Given the description of an element on the screen output the (x, y) to click on. 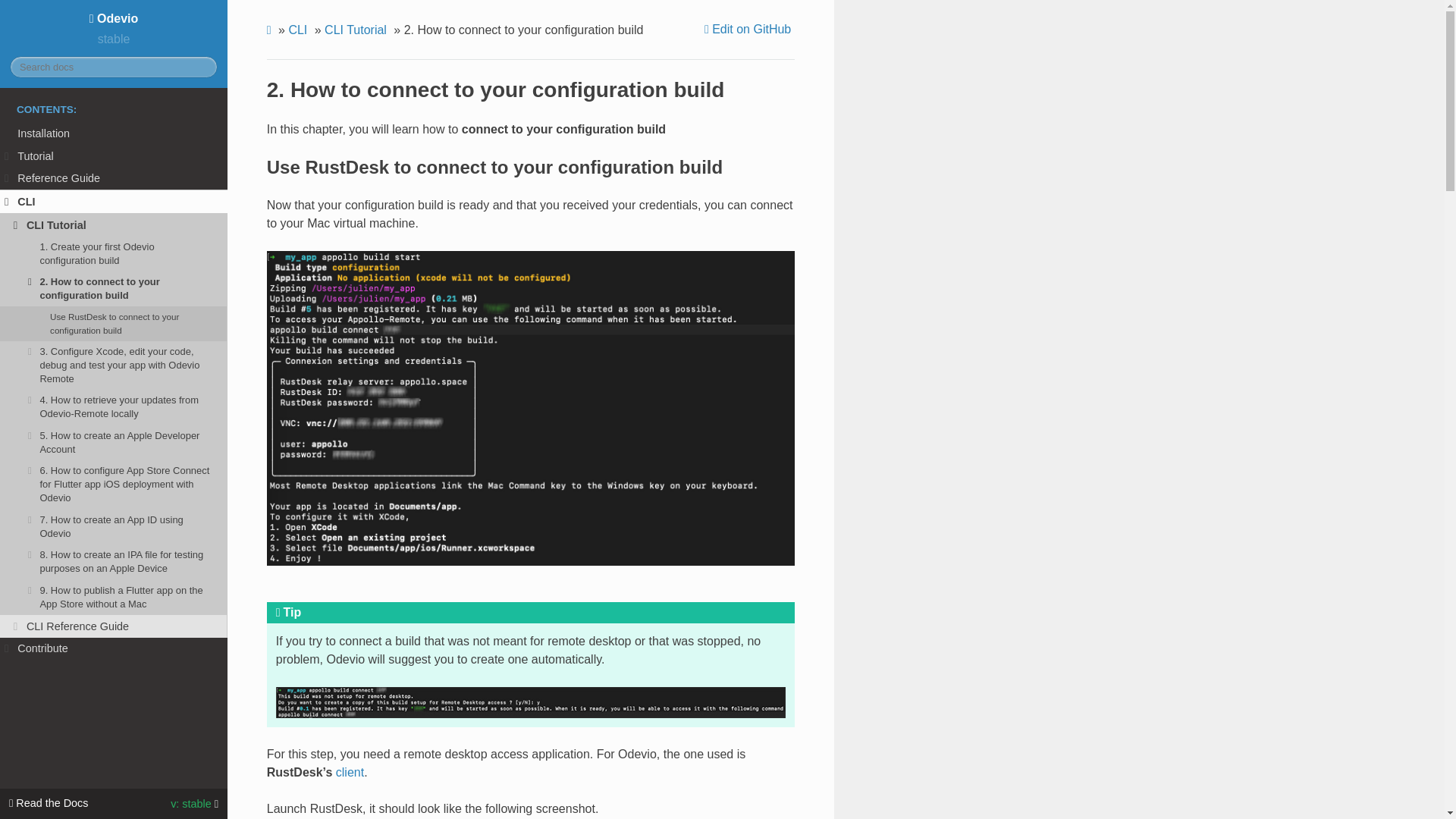
Tutorial (113, 155)
Odevio (113, 18)
Installation (113, 133)
